Given the description of an element on the screen output the (x, y) to click on. 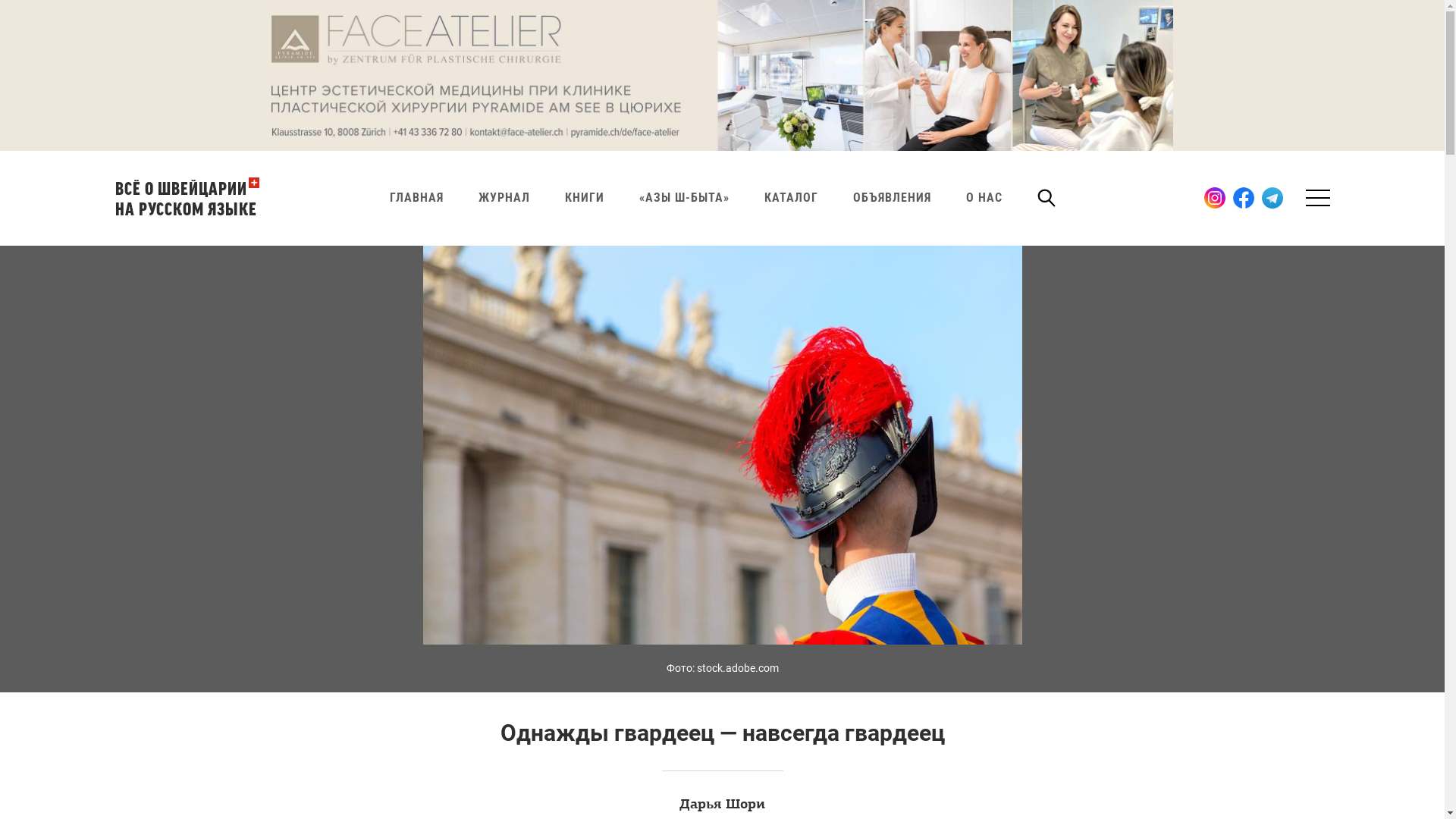
Instagram Element type: text (1214, 197)
Toggle navigation Element type: text (1315, 197)
Facebook Element type: text (1243, 197)
Telegram Element type: text (1272, 197)
